Given the description of an element on the screen output the (x, y) to click on. 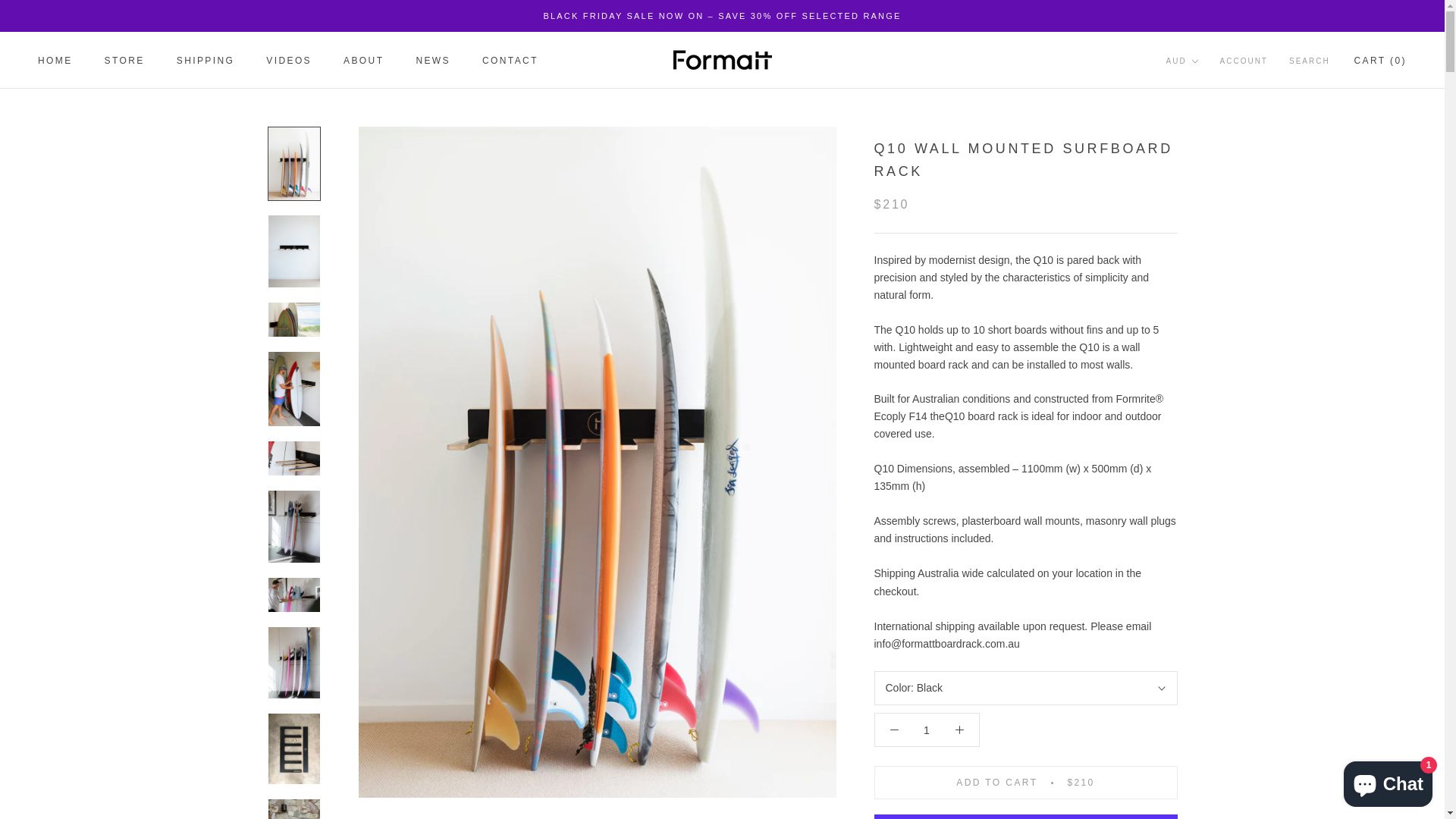
Color: Black Element type: text (1024, 688)
Shopify online store chat Element type: hover (1388, 780)
STORE
STORE Element type: text (124, 60)
VIDEOS
VIDEOS Element type: text (288, 60)
SEARCH Element type: text (1309, 61)
ADD TO CART
$210 Element type: text (1024, 782)
CART (0) Element type: text (1380, 60)
CONTACT
CONTACT Element type: text (510, 60)
HOME
HOME Element type: text (54, 60)
NEWS
NEWS Element type: text (432, 60)
SHIPPING
SHIPPING Element type: text (205, 60)
ACCOUNT Element type: text (1243, 61)
ABOUT
ABOUT Element type: text (363, 60)
